Given the description of an element on the screen output the (x, y) to click on. 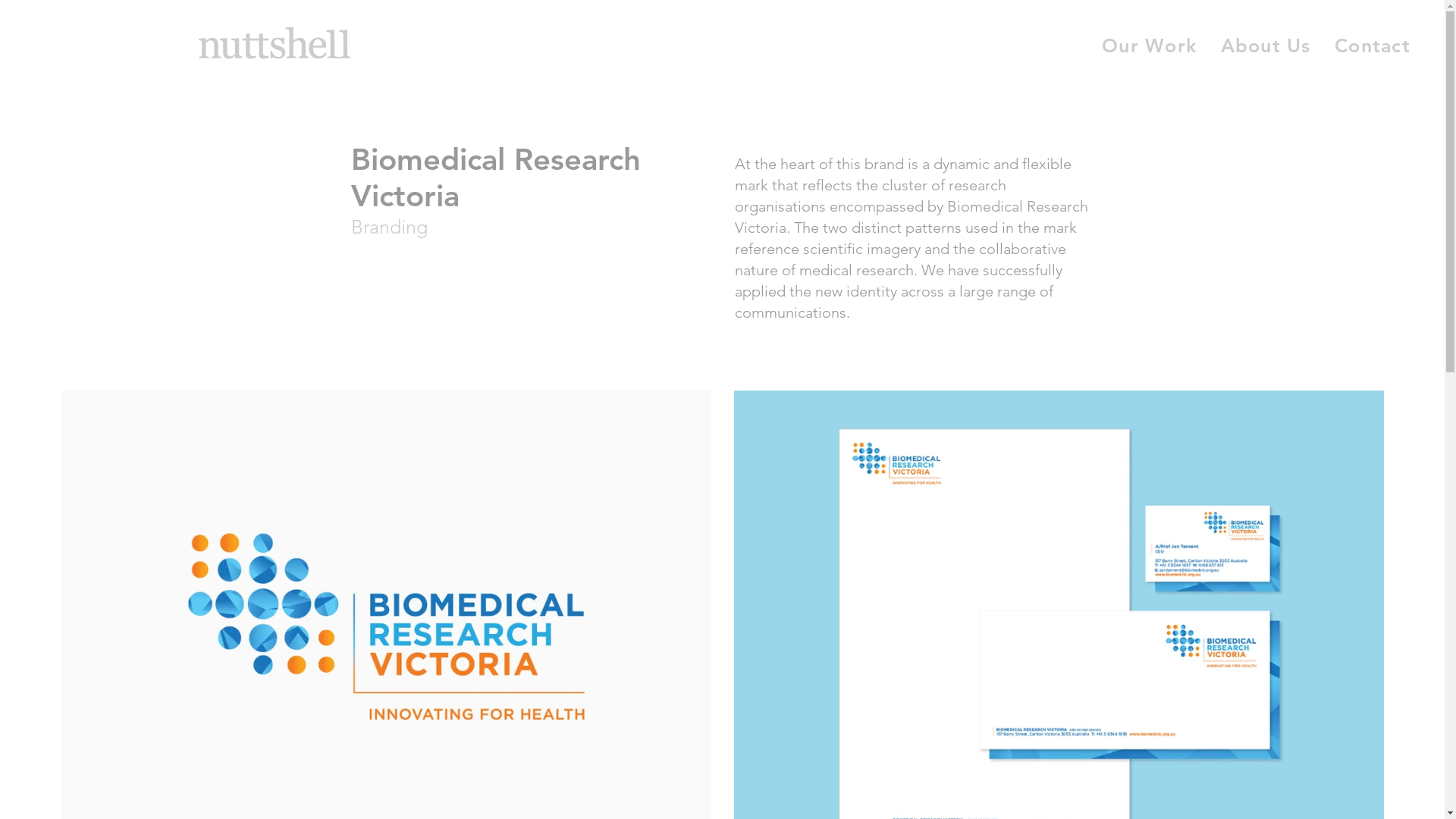
Contact Element type: text (1371, 45)
Our Work Element type: text (1149, 45)
About Us Element type: text (1265, 45)
